Given the description of an element on the screen output the (x, y) to click on. 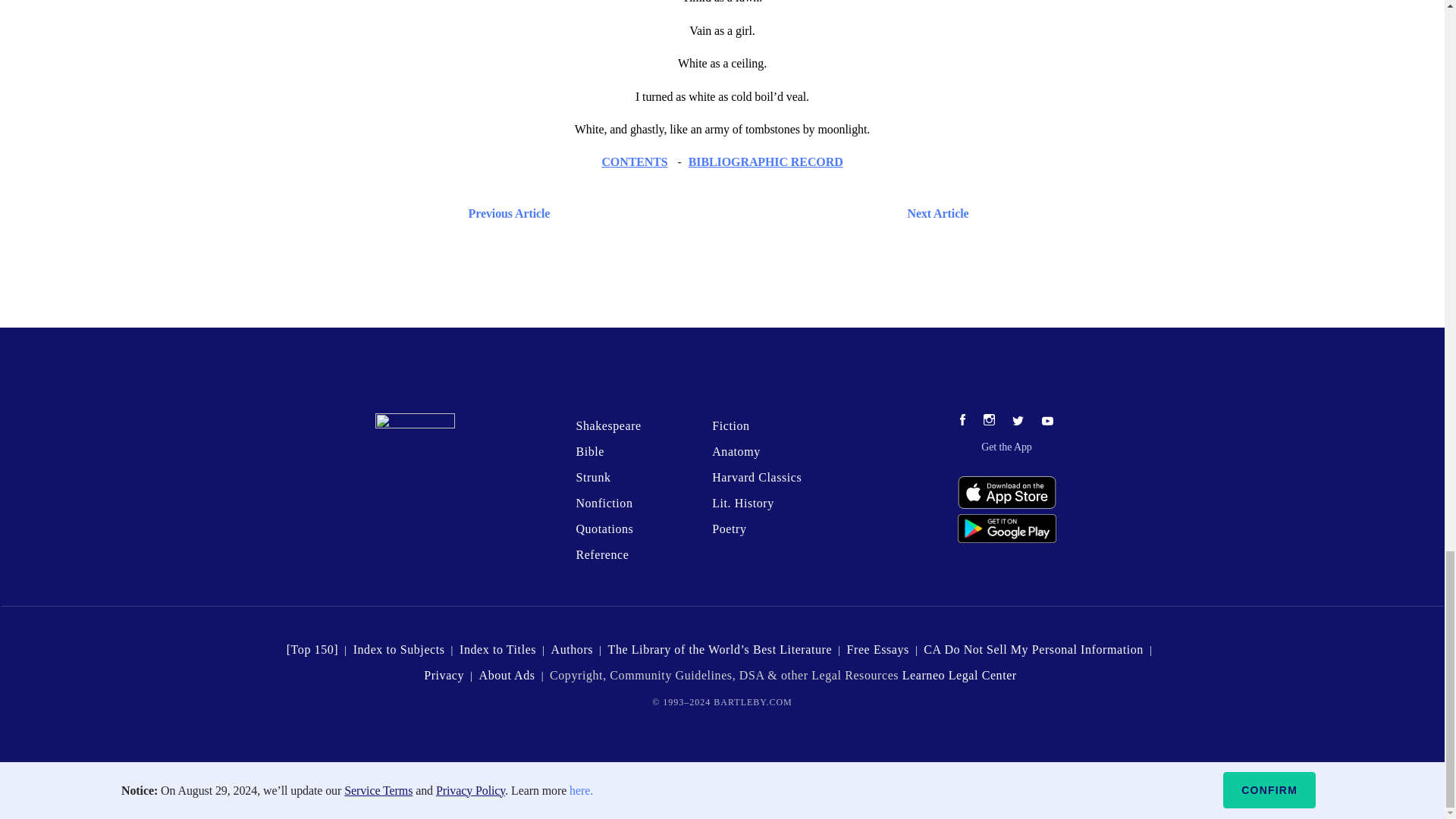
Nonfiction (603, 502)
Anatomy (735, 451)
Poetry (728, 528)
Shakespeare (607, 425)
BIBLIOGRAPHIC RECORD (765, 161)
Previous Article (505, 213)
CONTENTS (633, 161)
Next Article (766, 213)
Lit. History (742, 502)
Bible (589, 451)
